Given the description of an element on the screen output the (x, y) to click on. 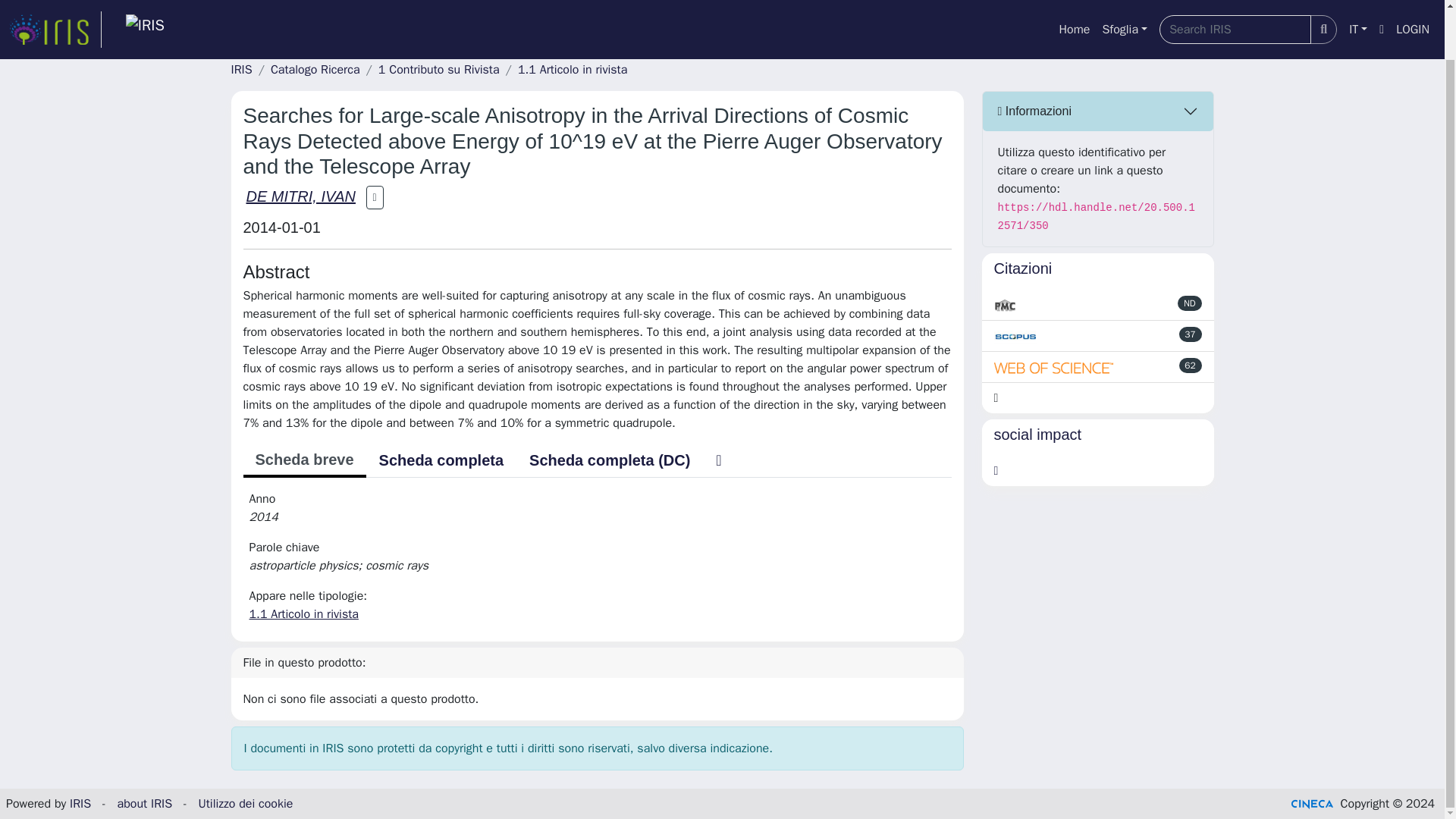
 Informazioni (1097, 111)
Scheda completa (441, 459)
IRIS (240, 69)
IRIS (79, 803)
1.1 Articolo in rivista (572, 69)
aggiornato in data 09-07-2024 17:33 (1190, 334)
DE MITRI, IVAN (300, 196)
1.1 Articolo in rivista (303, 613)
mostra contributor esterni (374, 197)
about IRIS (145, 803)
Scheda breve (304, 460)
Catalogo Ricerca (314, 69)
1 Contributo su Rivista (438, 69)
